Given the description of an element on the screen output the (x, y) to click on. 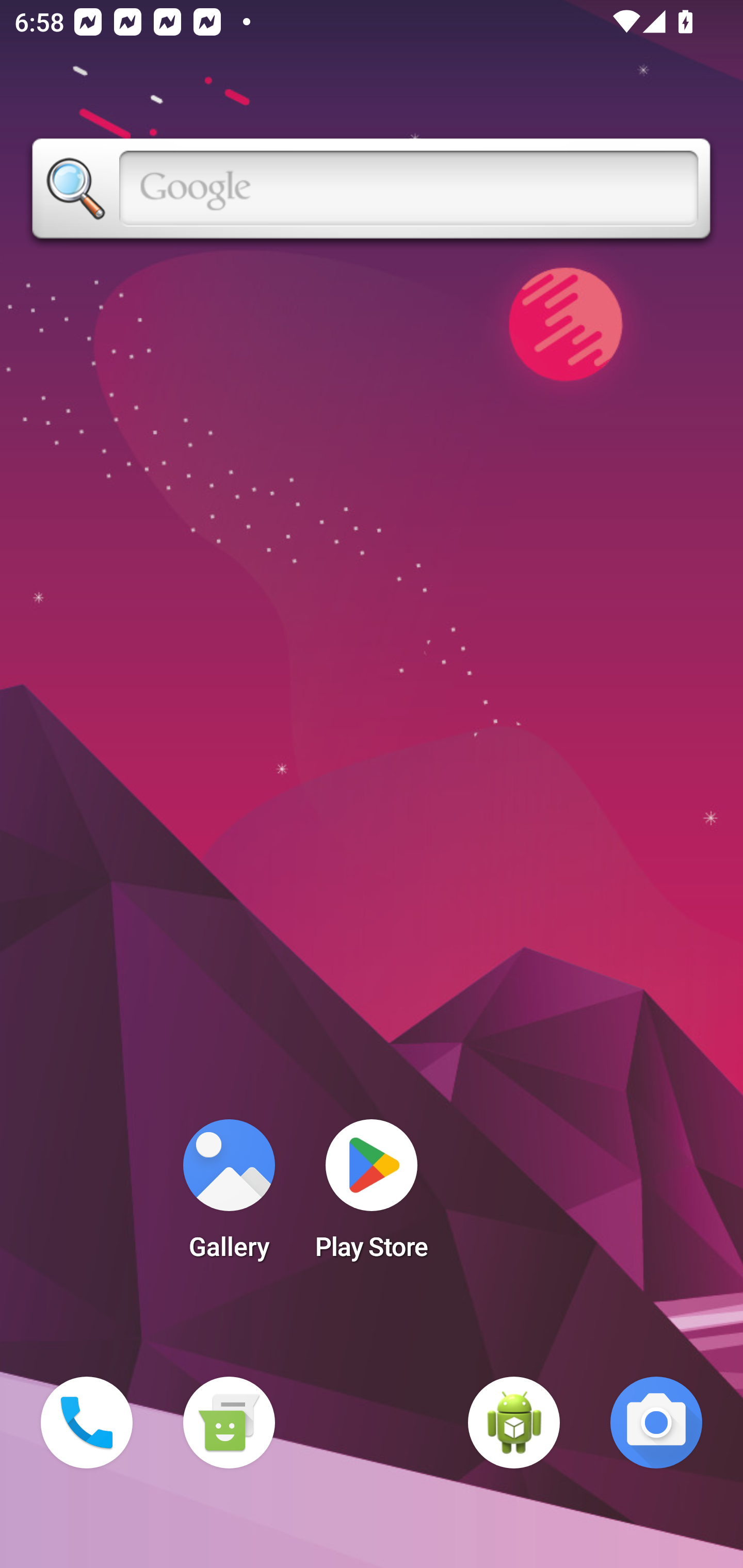
Gallery (228, 1195)
Play Store (371, 1195)
Phone (86, 1422)
Messaging (228, 1422)
WebView Browser Tester (513, 1422)
Camera (656, 1422)
